Given the description of an element on the screen output the (x, y) to click on. 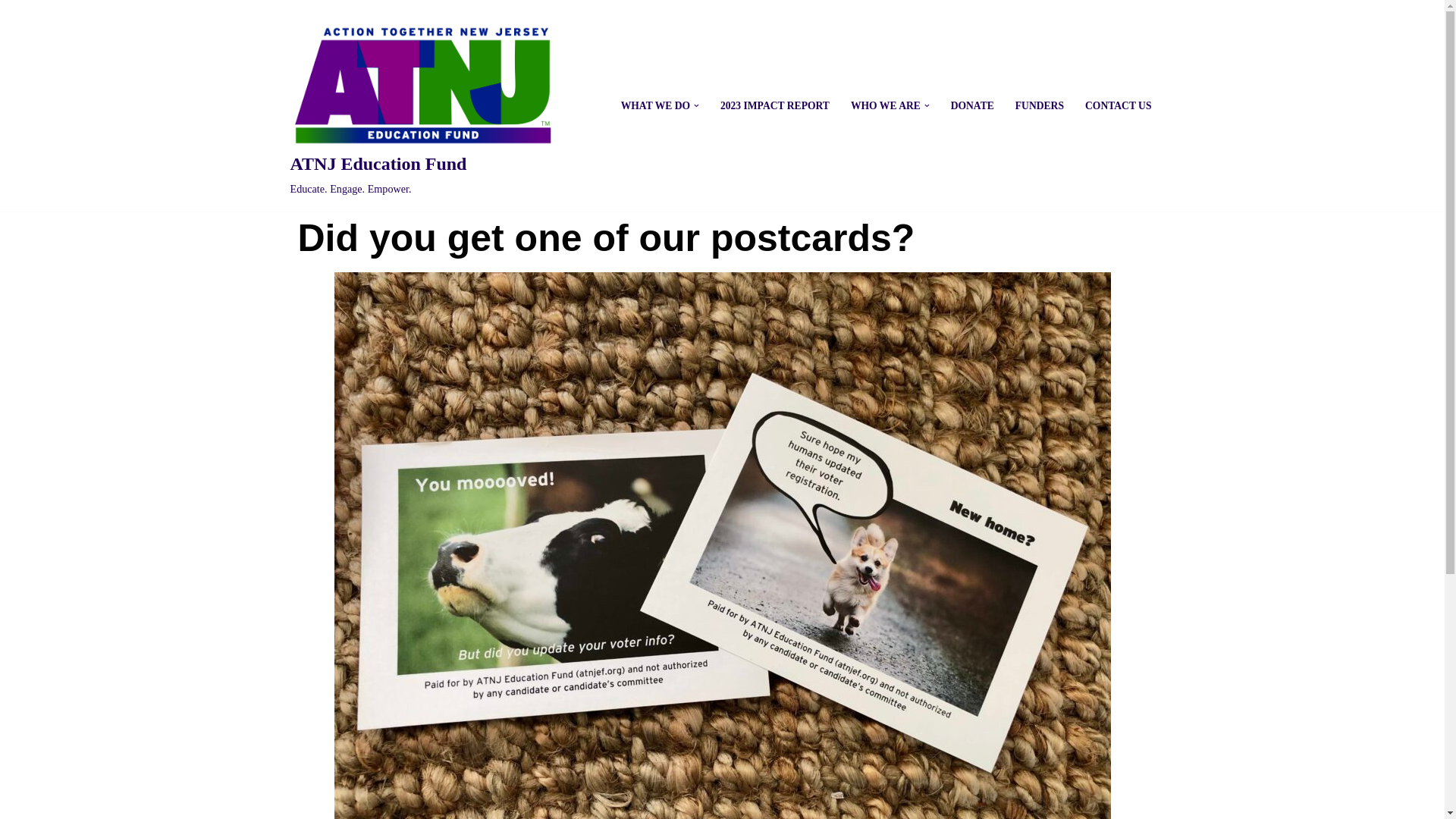
2023 IMPACT REPORT (774, 105)
Skip to content (11, 31)
CONTACT US (421, 105)
DONATE (1117, 105)
FUNDERS (972, 105)
WHAT WE DO (1039, 105)
WHO WE ARE (655, 105)
